Given the description of an element on the screen output the (x, y) to click on. 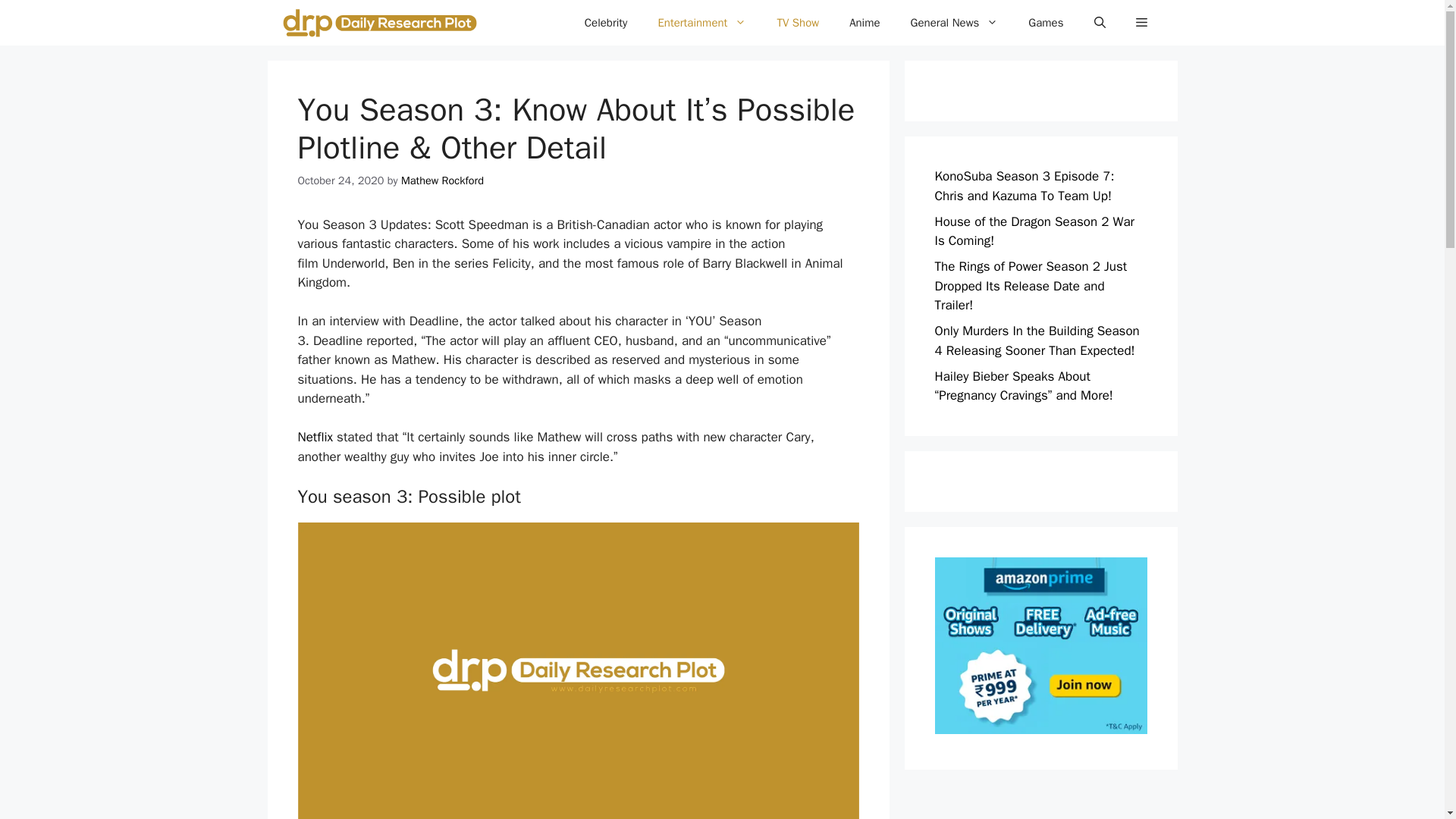
TV Show (797, 22)
General News (954, 22)
Mathew Rockford (442, 180)
View all posts by Mathew Rockford (442, 180)
Daily Research Plot (379, 22)
Celebrity (606, 22)
Entertainment (701, 22)
Games (1045, 22)
Anime (864, 22)
